Given the description of an element on the screen output the (x, y) to click on. 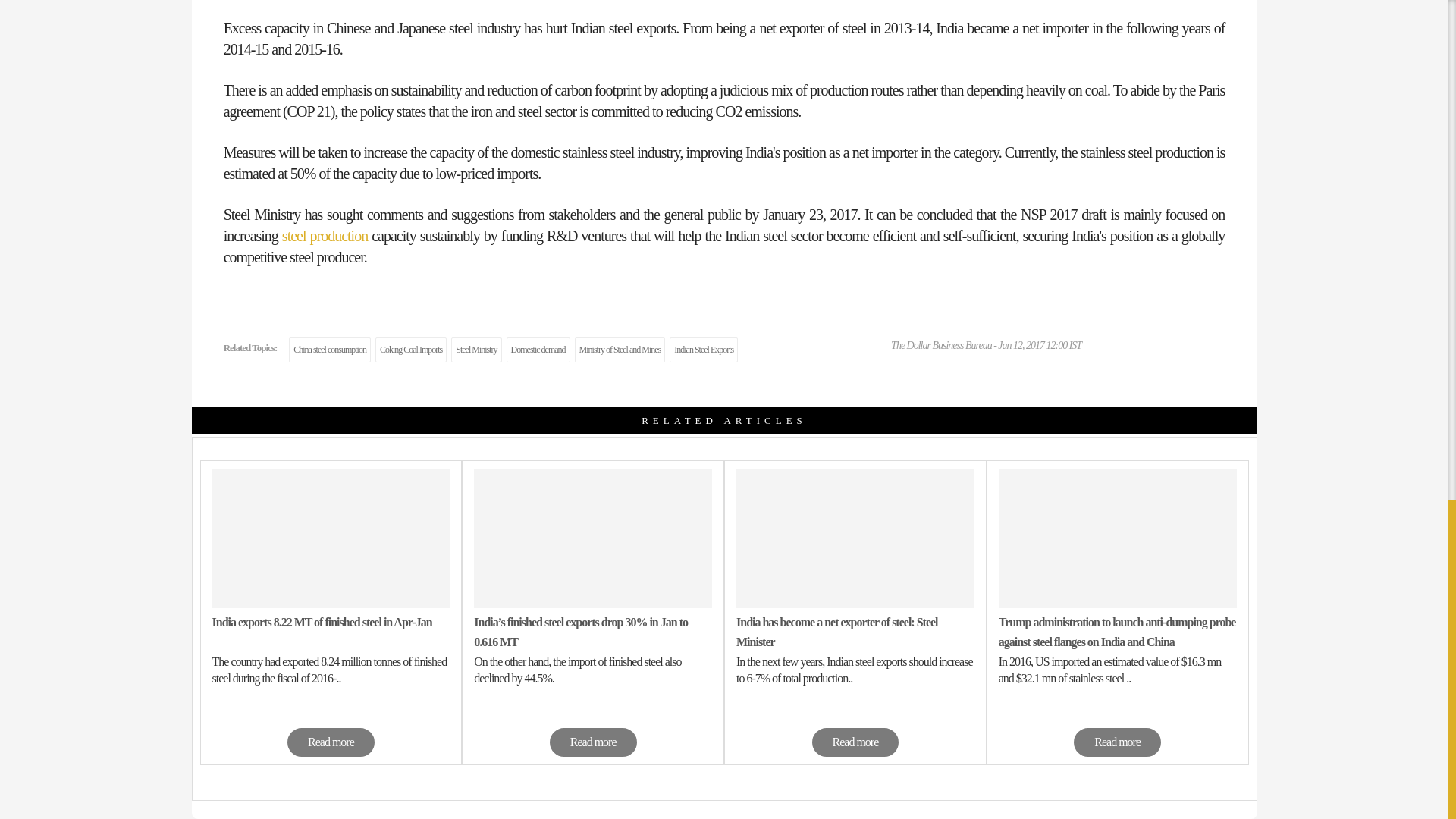
Domestic demand (538, 350)
Indian Steel Exports (703, 350)
steel production (325, 235)
China steel consumption (329, 350)
Steel Ministry (475, 350)
Coking Coal Imports (410, 350)
Ministry of Steel and Mines (620, 350)
